Given the description of an element on the screen output the (x, y) to click on. 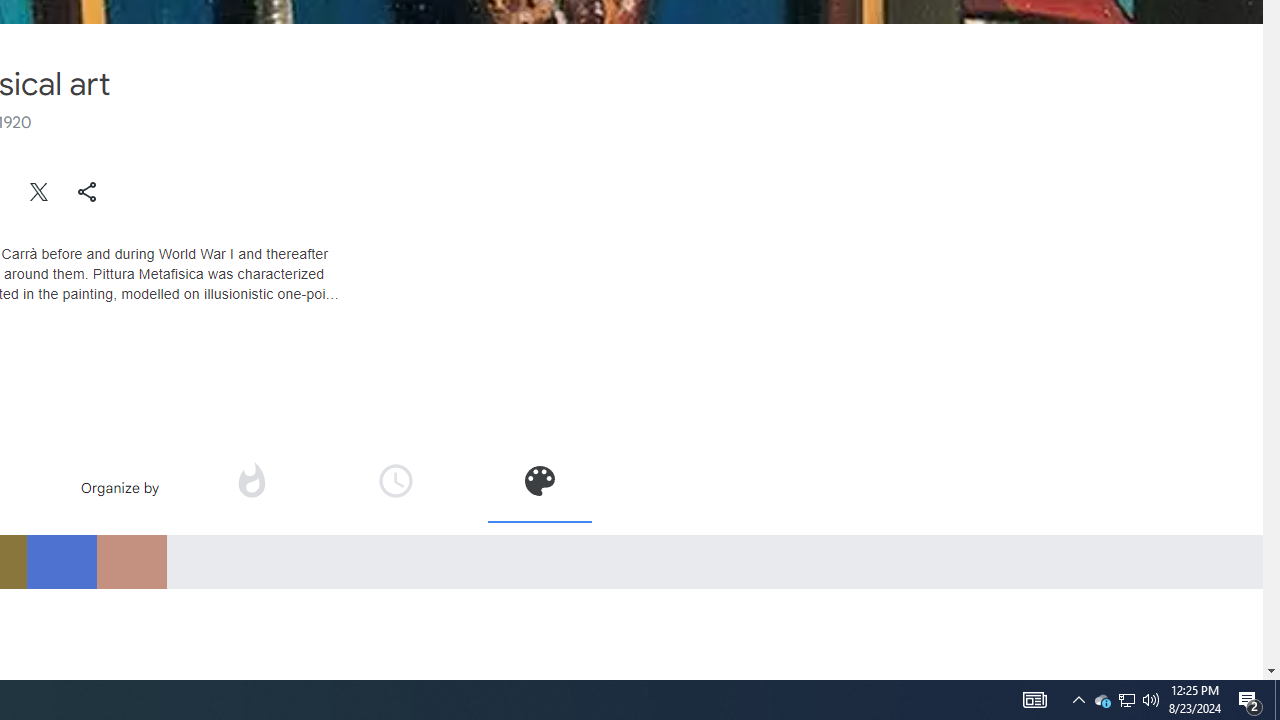
RGB_C4907F (131, 561)
Organize by time (395, 480)
Organize by time (395, 487)
Share "Metaphysical art" (87, 191)
Share on Twitter (39, 191)
RGB_4D72D0 (61, 561)
Organize by popularity (251, 487)
Organize by color (538, 487)
Organize by color (539, 480)
Organize by popularity (250, 480)
